Given the description of an element on the screen output the (x, y) to click on. 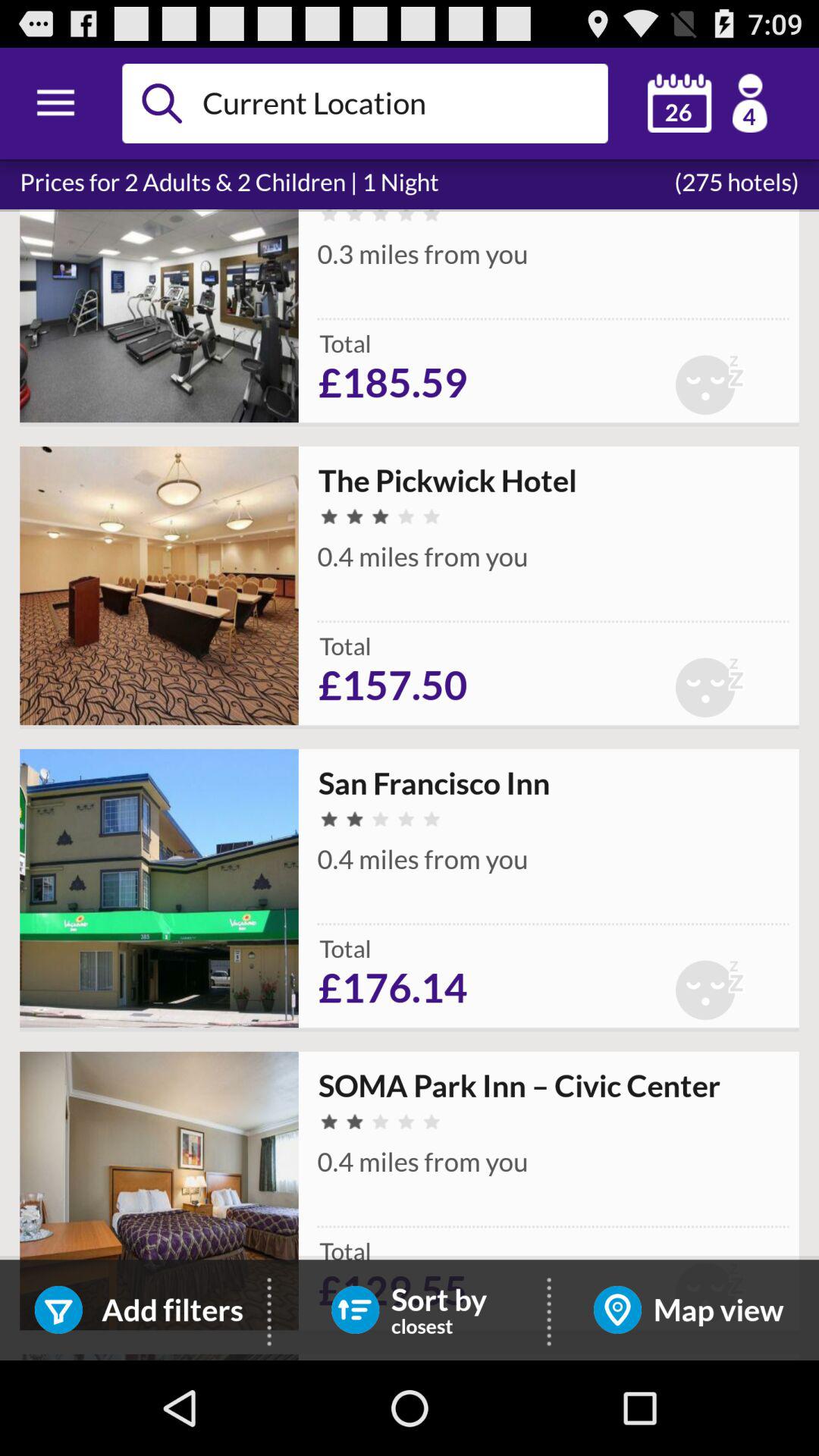
click on second image (158, 585)
click on sort by icon (355, 1309)
click on the third image from top (158, 888)
select the icons right to search field (707, 103)
click on second image left  to the pickwick hotel (158, 585)
